Given the description of an element on the screen output the (x, y) to click on. 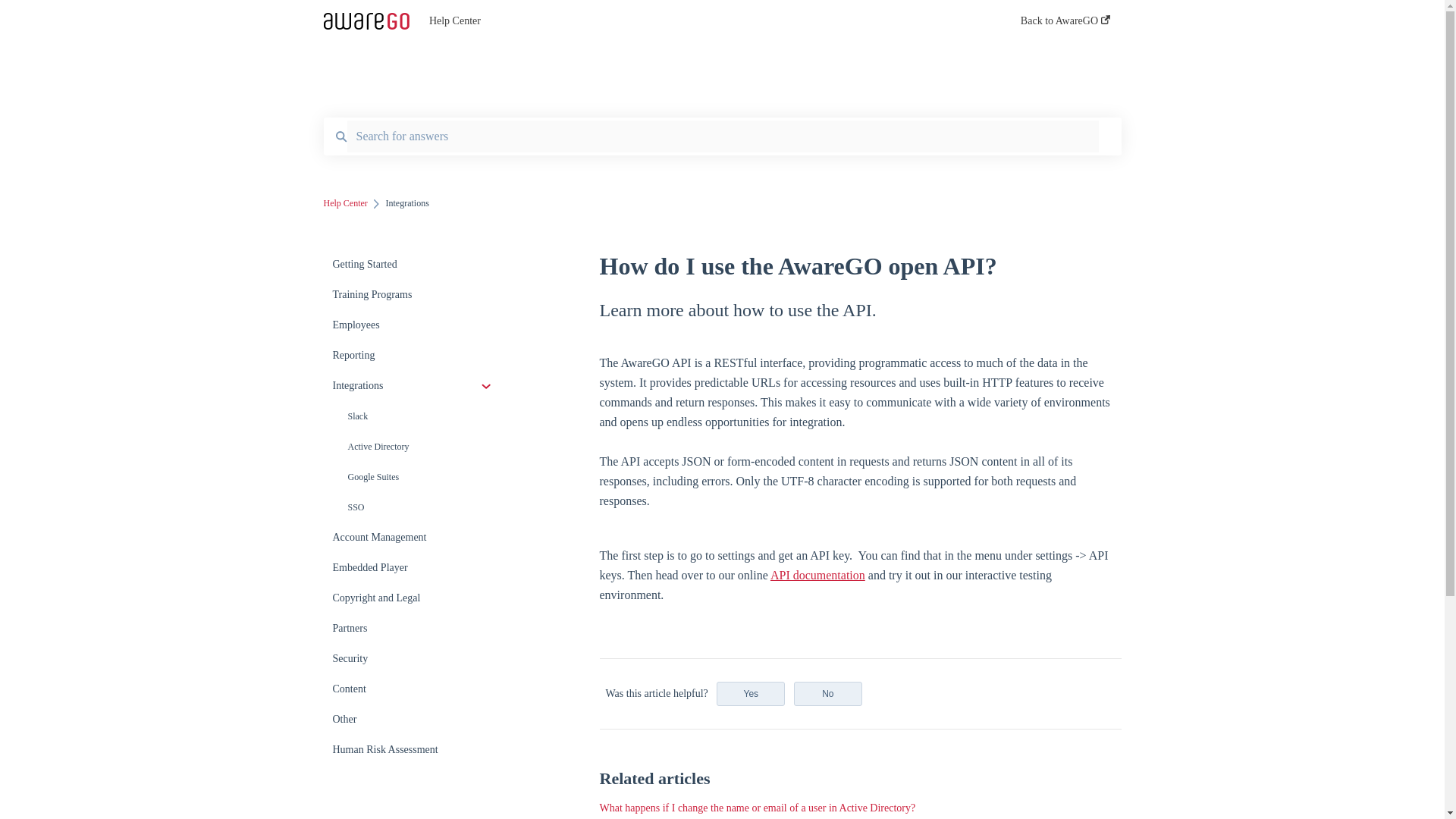
Embedded Player (414, 567)
Integrations (414, 386)
Account Management (414, 537)
Getting Started (414, 264)
Training Programs (414, 295)
Reporting (414, 355)
Slack (414, 416)
Employees (414, 325)
Help Center (344, 203)
Back to AwareGO (1064, 25)
